Given the description of an element on the screen output the (x, y) to click on. 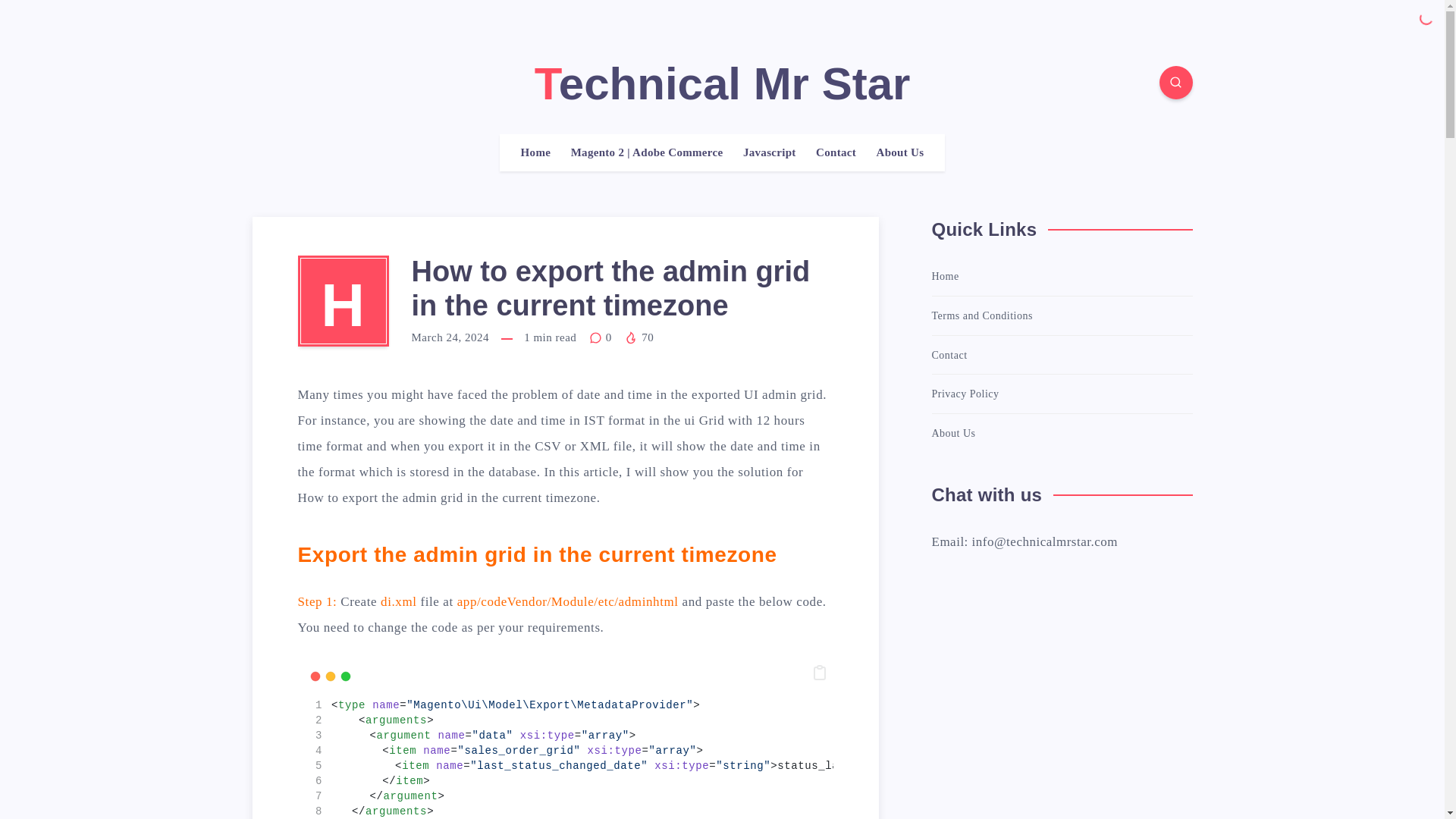
About Us (900, 152)
0 Comments (602, 337)
Technical Mr Star (722, 83)
0 (602, 337)
Contact (835, 152)
Javascript (769, 152)
Home (536, 152)
70 Views (638, 337)
